Given the description of an element on the screen output the (x, y) to click on. 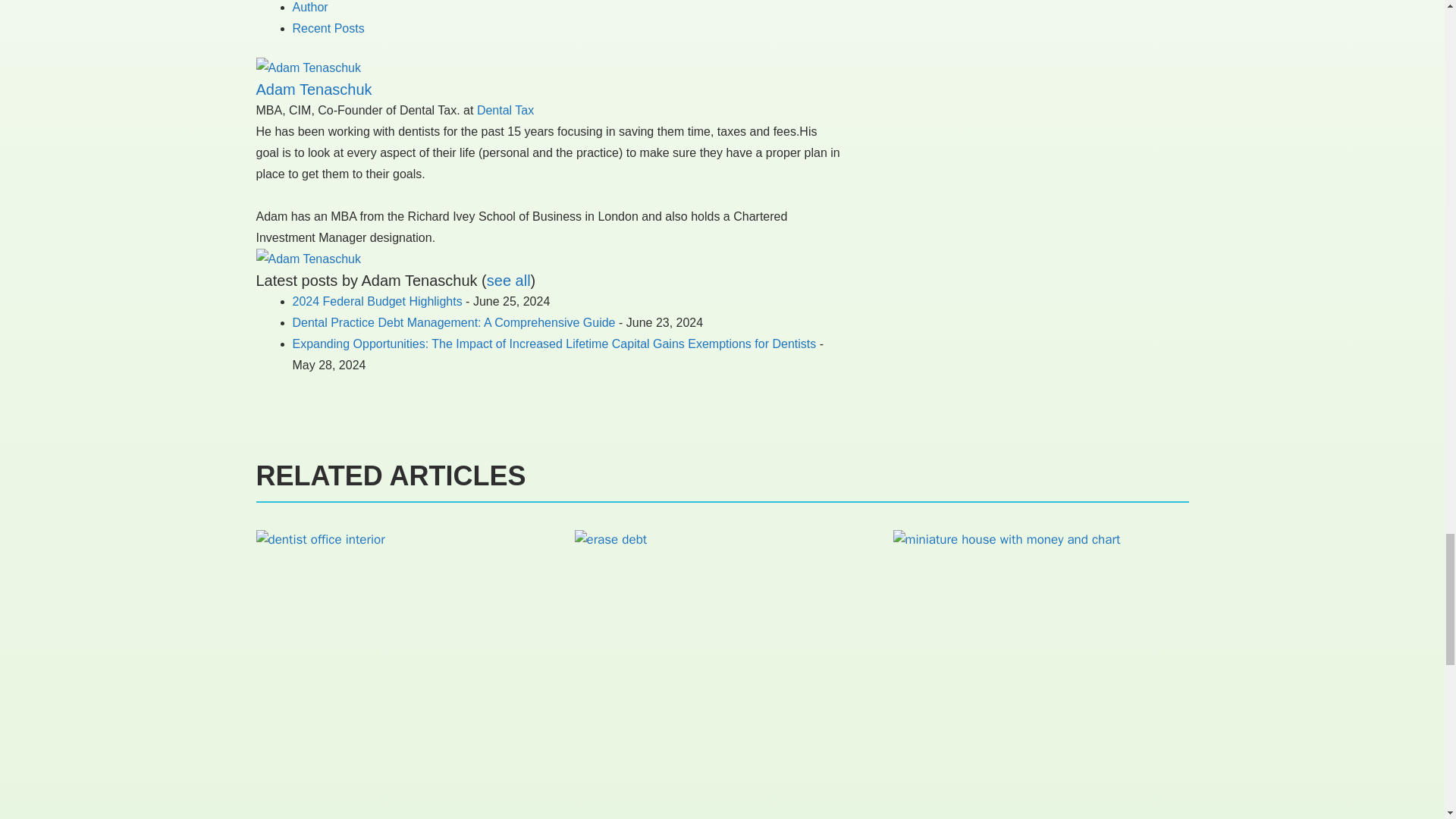
Adam Tenaschuk (308, 67)
Adam Tenaschuk (308, 258)
